Given the description of an element on the screen output the (x, y) to click on. 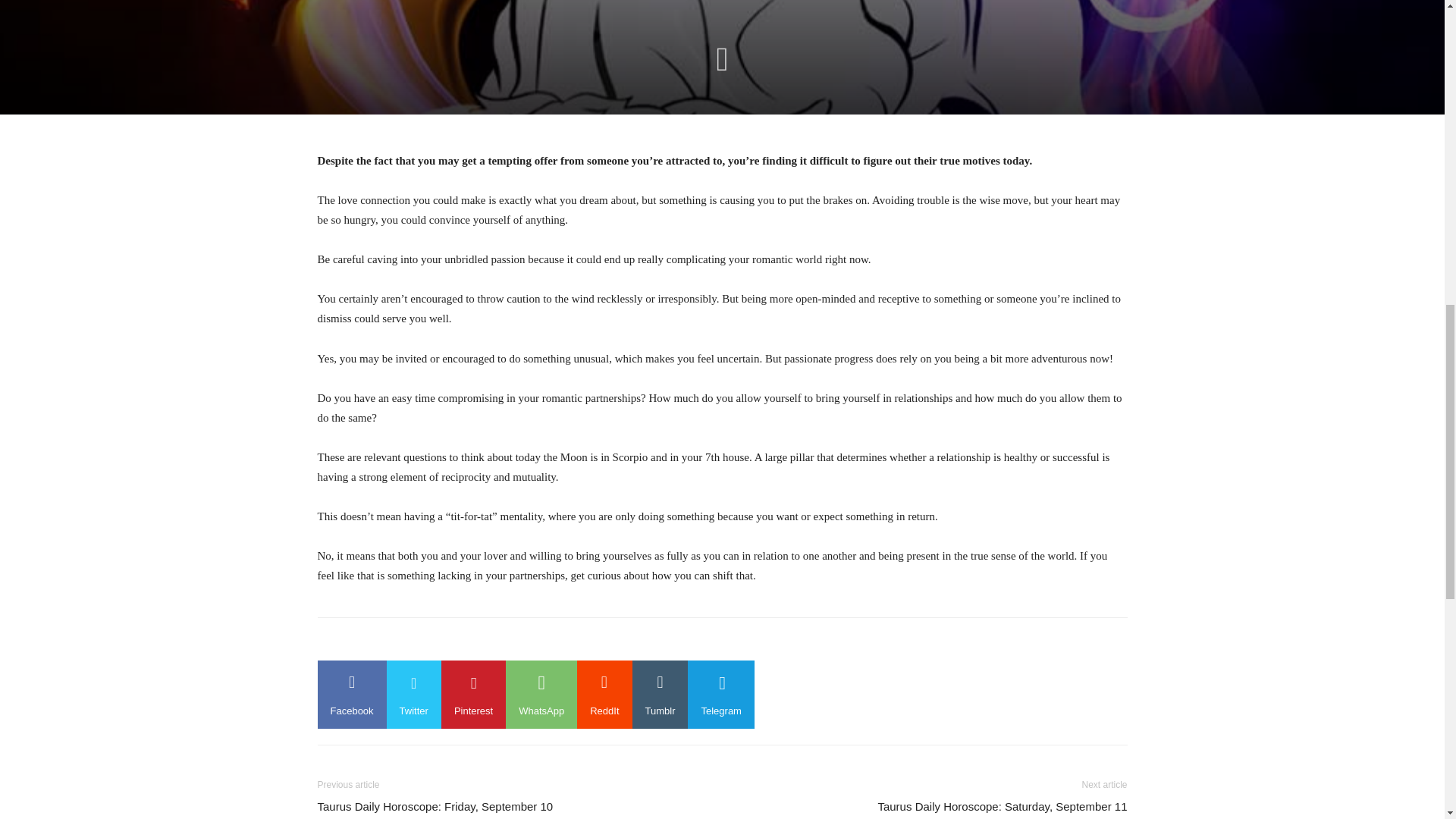
Facebook (351, 694)
WhatsApp (540, 694)
Pinterest (473, 694)
bottomFacebookLike (430, 641)
